Given the description of an element on the screen output the (x, y) to click on. 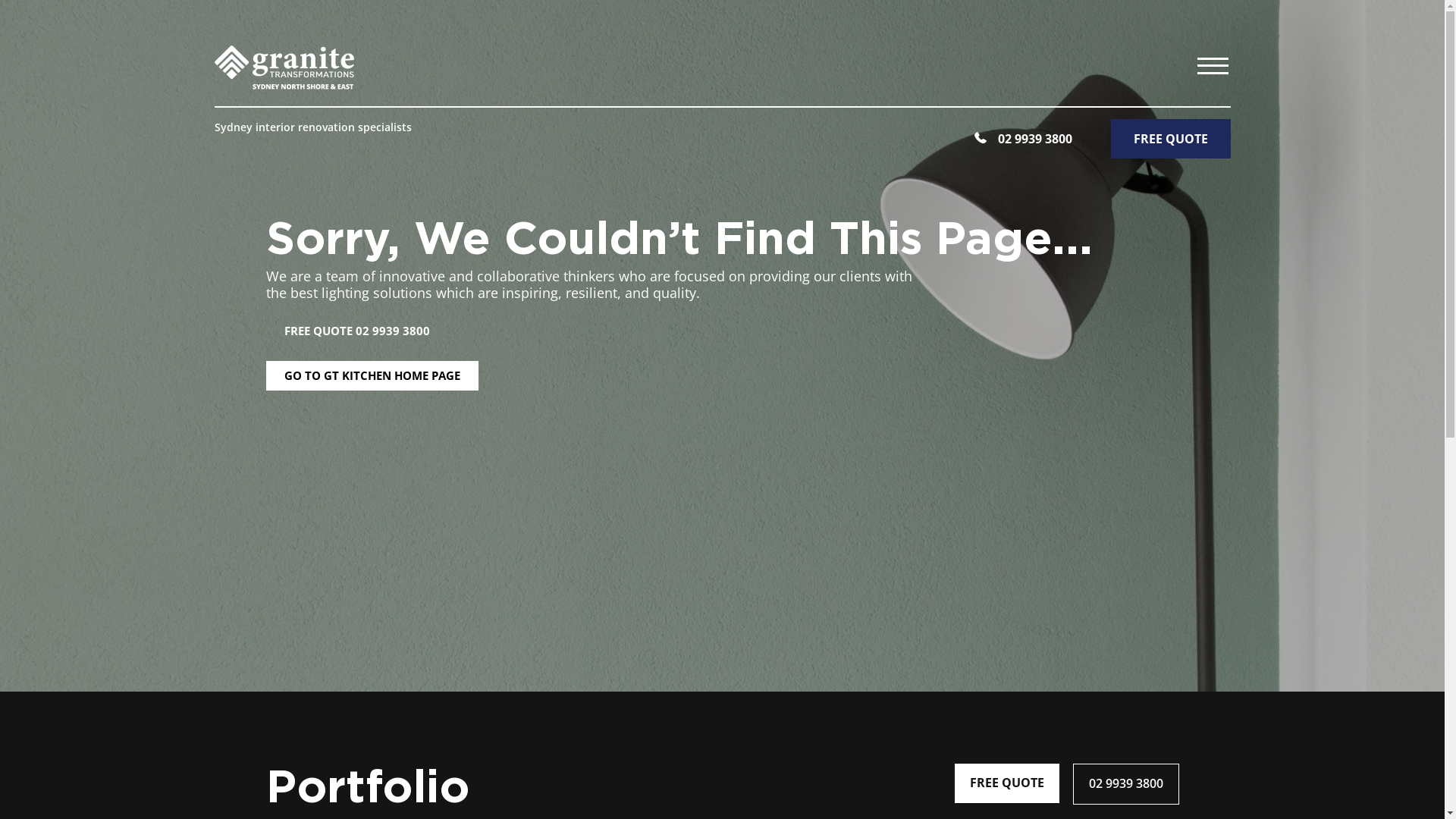
FREE QUOTE Element type: text (1170, 138)
02 9939 3800 Element type: text (1022, 138)
FREE QUOTE Element type: text (1005, 783)
FREE QUOTE 02 9939 3800 Element type: text (356, 330)
02 9939 3800 Element type: text (1125, 783)
GO TO GT KITCHEN HOME PAGE Element type: text (371, 375)
